Given the description of an element on the screen output the (x, y) to click on. 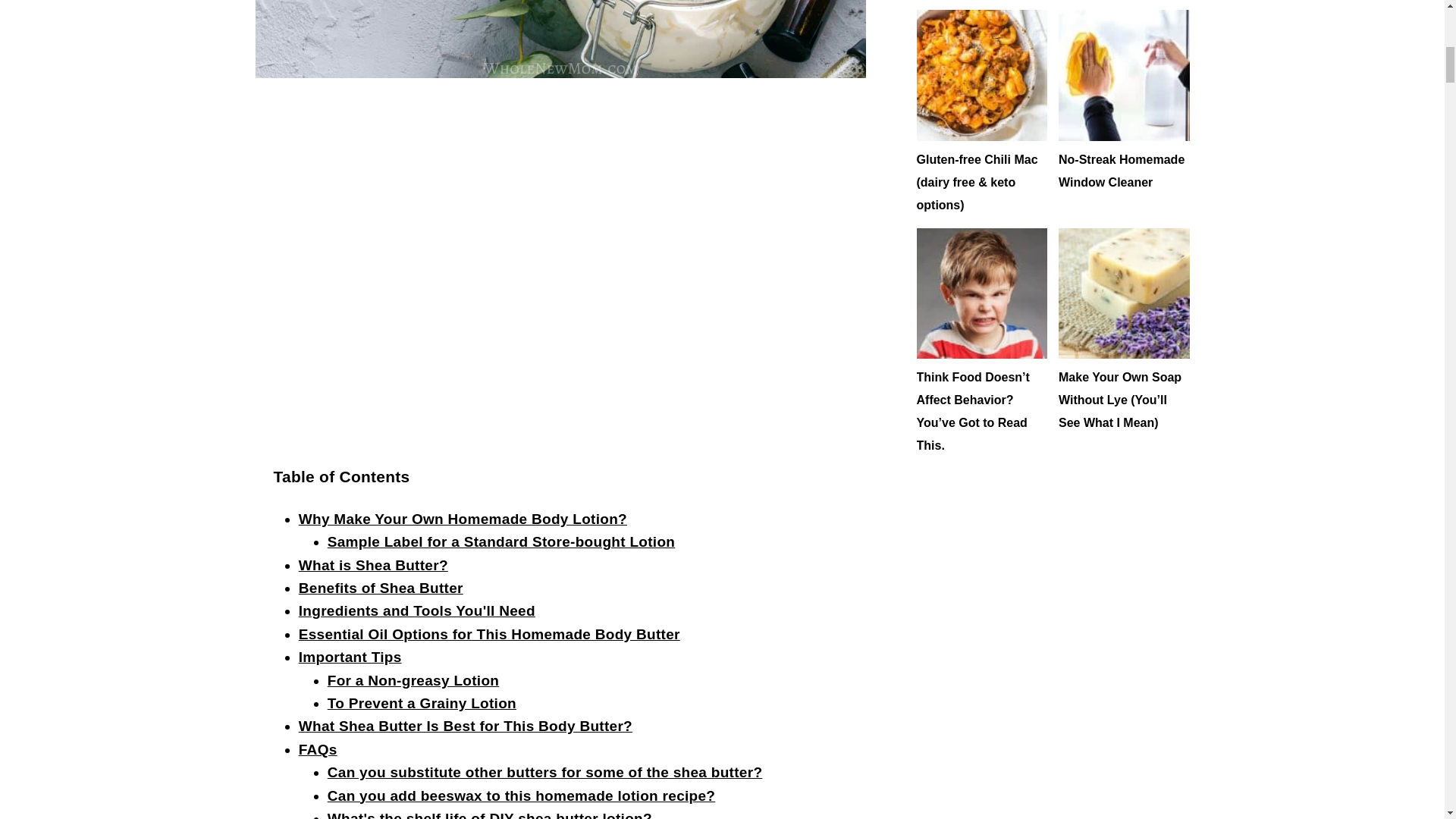
Benefits of Shea Butter (380, 587)
Ingredients and Tools You'll Need (416, 610)
What Shea Butter Is Best for This Body Butter? (464, 725)
Sample Label for a Standard Store-bought Lotion (501, 541)
What is Shea Butter? (373, 565)
Important Tips (349, 657)
Why Make Your Own Homemade Body Lotion? (462, 519)
For a Non-greasy Lotion (413, 680)
To Prevent a Grainy Lotion (421, 703)
Essential Oil Options for This Homemade Body Butter (488, 634)
